Given the description of an element on the screen output the (x, y) to click on. 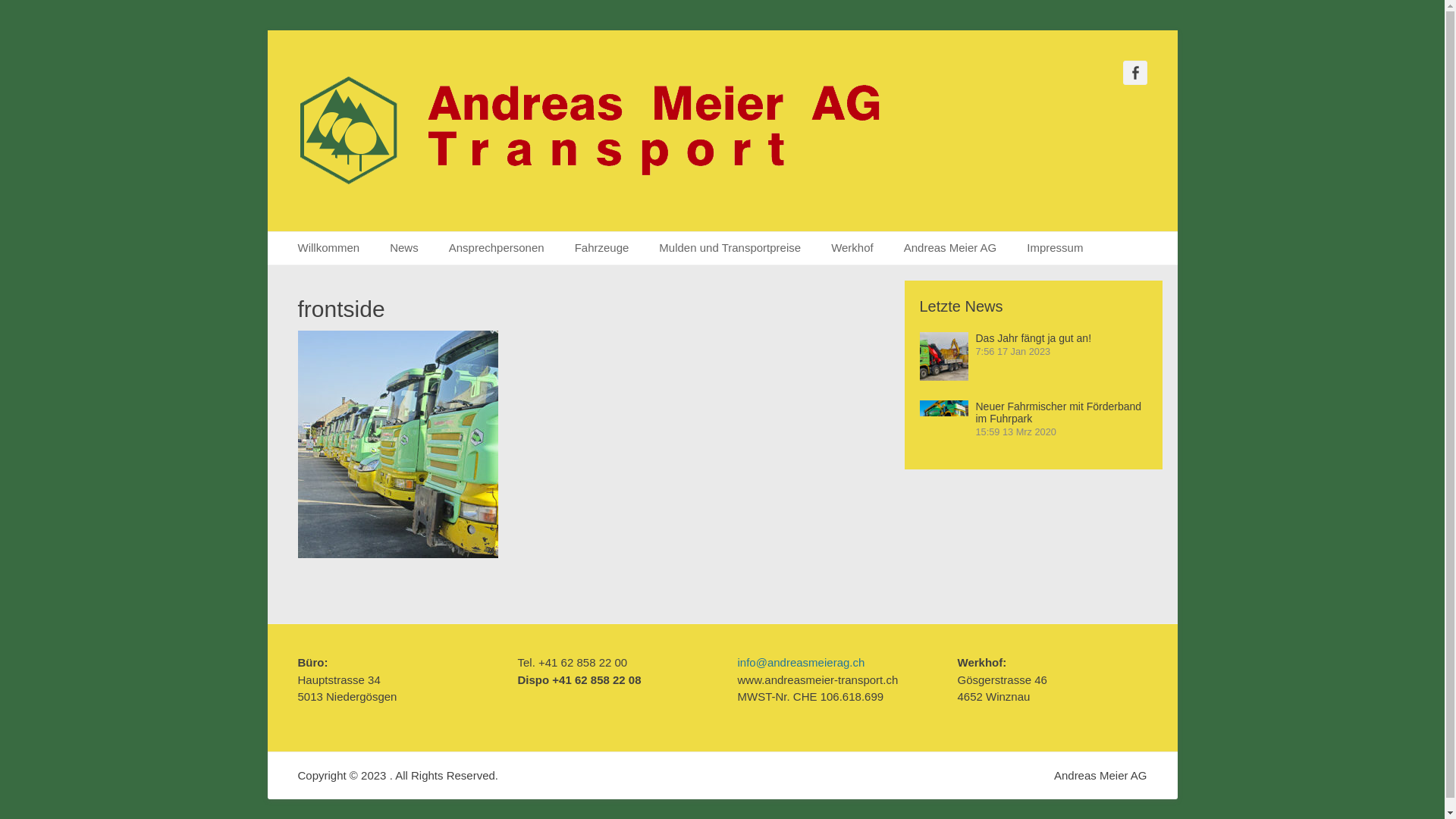
Willkommen Element type: text (328, 248)
Impressum Element type: text (1054, 248)
Ansprechpersonen Element type: text (496, 248)
Fahrzeuge Element type: text (601, 248)
News Element type: text (403, 248)
info@andreasmeierag.ch Element type: text (800, 661)
Mulden und Transportpreise Element type: text (729, 248)
Facebook Element type: text (1134, 72)
Andreas Meier AG Element type: text (950, 248)
Werkhof Element type: text (851, 248)
